Given the description of an element on the screen output the (x, y) to click on. 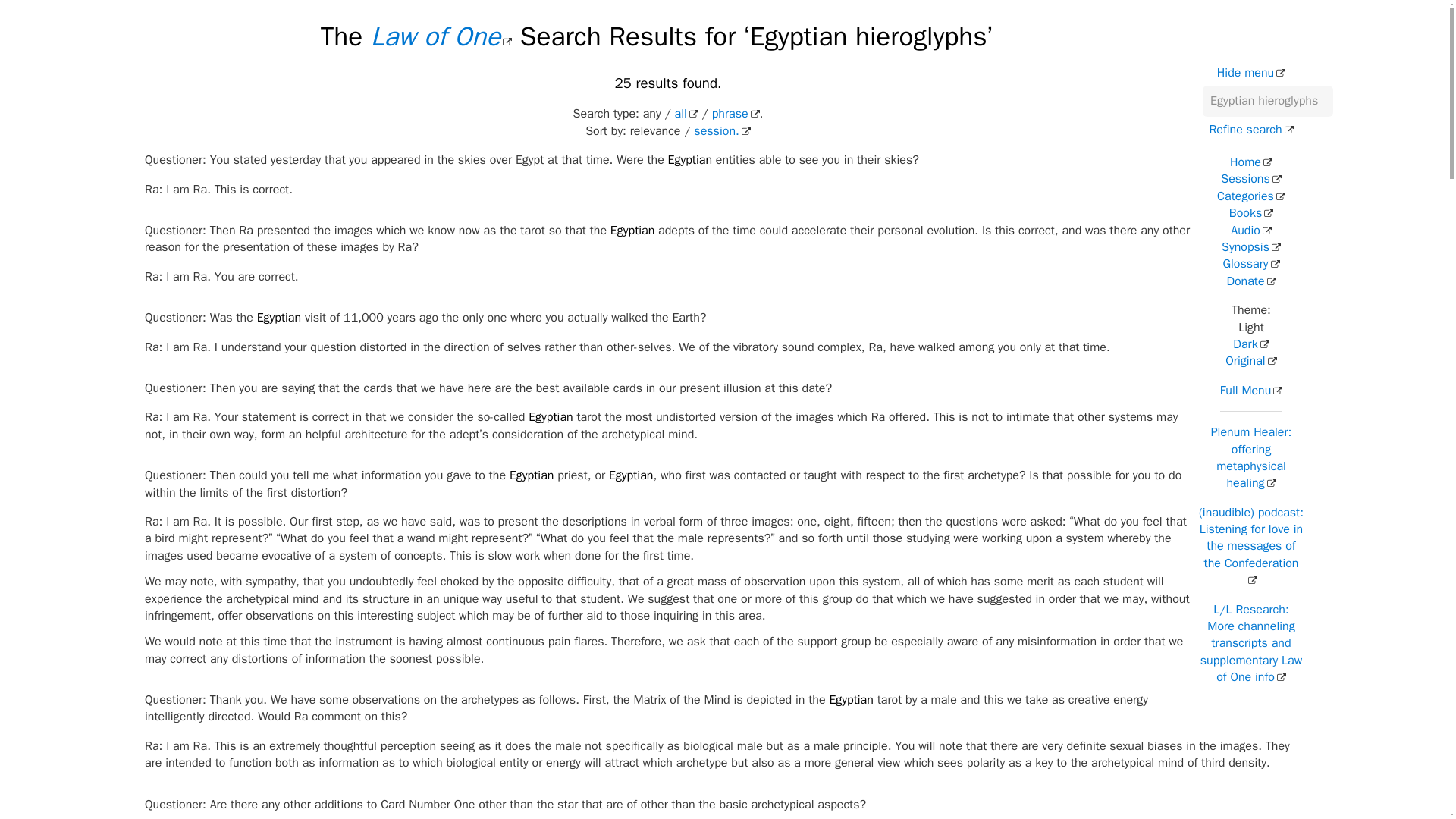
Law of One (441, 36)
session. (721, 130)
all (686, 113)
phrase (735, 113)
